Given the description of an element on the screen output the (x, y) to click on. 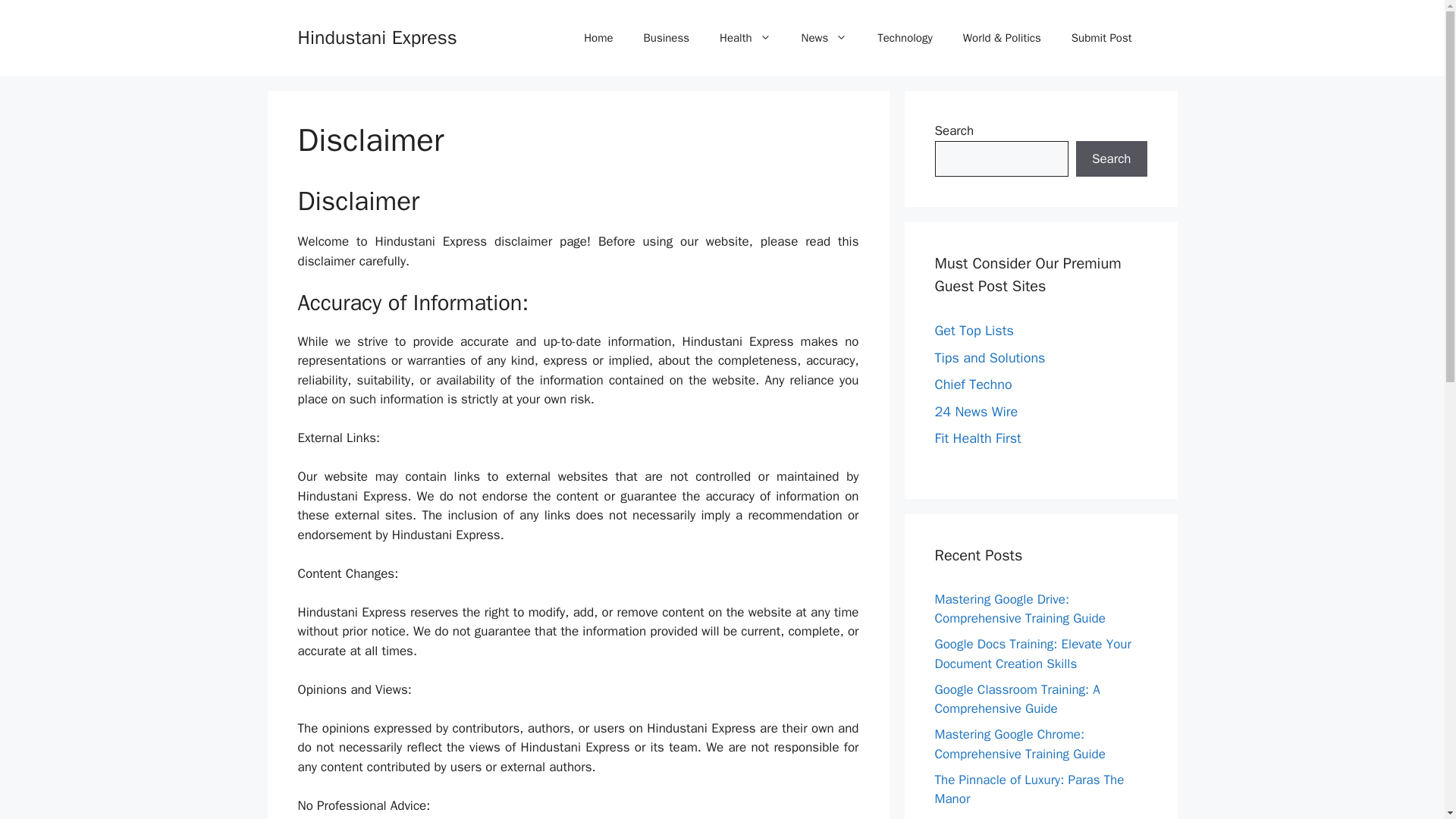
Technology (904, 37)
Google Classroom Training: A Comprehensive Guide (1016, 698)
Health (745, 37)
Get Top Lists (973, 330)
The Pinnacle of Luxury: Paras The Manor (1029, 789)
News (824, 37)
Business (666, 37)
Google Docs Training: Elevate Your Document Creation Skills (1032, 653)
Hindustani Express (377, 37)
Tips and Solutions (989, 356)
Mastering Google Drive: Comprehensive Training Guide (1019, 609)
Mastering Google Chrome: Comprehensive Training Guide (1019, 744)
Search (1111, 158)
Fit Health First (977, 437)
